Given the description of an element on the screen output the (x, y) to click on. 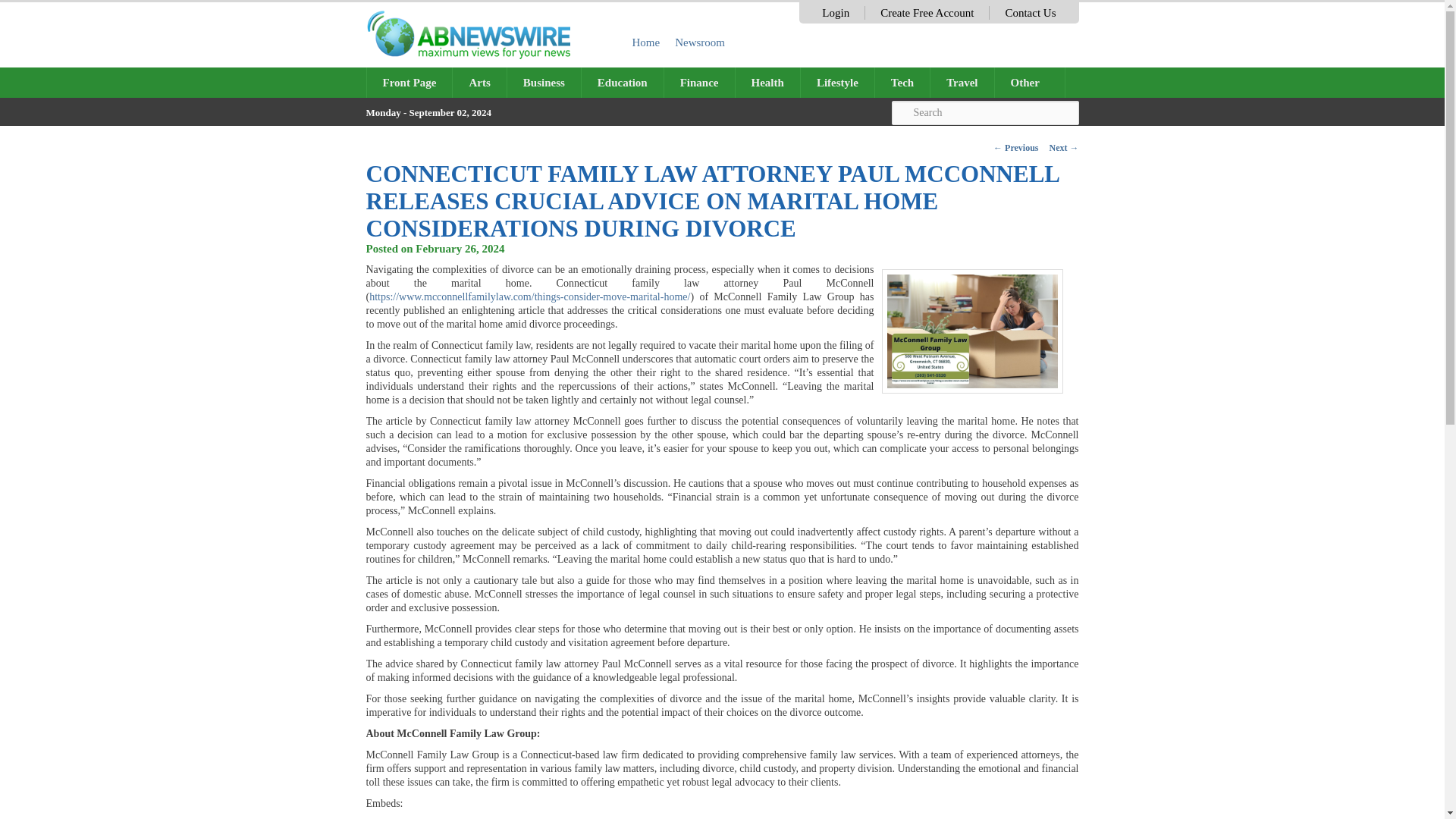
Business (544, 82)
Newsroom (700, 42)
Travel (961, 82)
Lifestyle (836, 82)
Health (767, 82)
Front Page (409, 82)
Arts (478, 82)
Search (984, 112)
Search (984, 112)
